Given the description of an element on the screen output the (x, y) to click on. 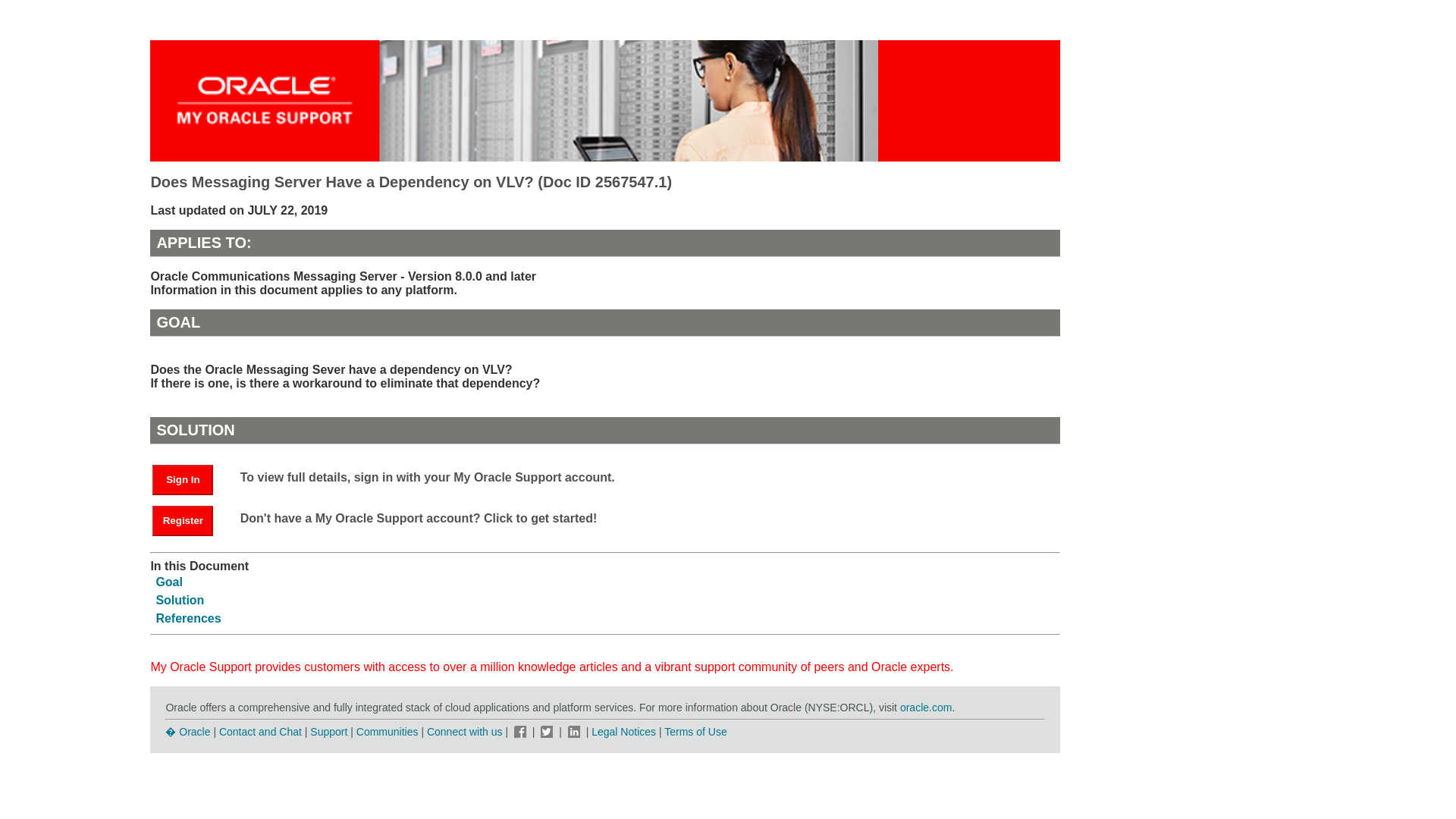
Solution (179, 599)
Terms of Use (694, 731)
Sign In (190, 478)
Connect with us (465, 731)
References (188, 617)
Communities (387, 731)
Register (190, 519)
Goal (169, 581)
Support (328, 731)
Legal Notices (623, 731)
oracle.com (925, 707)
Register (182, 521)
Sign In (182, 480)
oracle.com (925, 707)
Contact and Chat (260, 731)
